Given the description of an element on the screen output the (x, y) to click on. 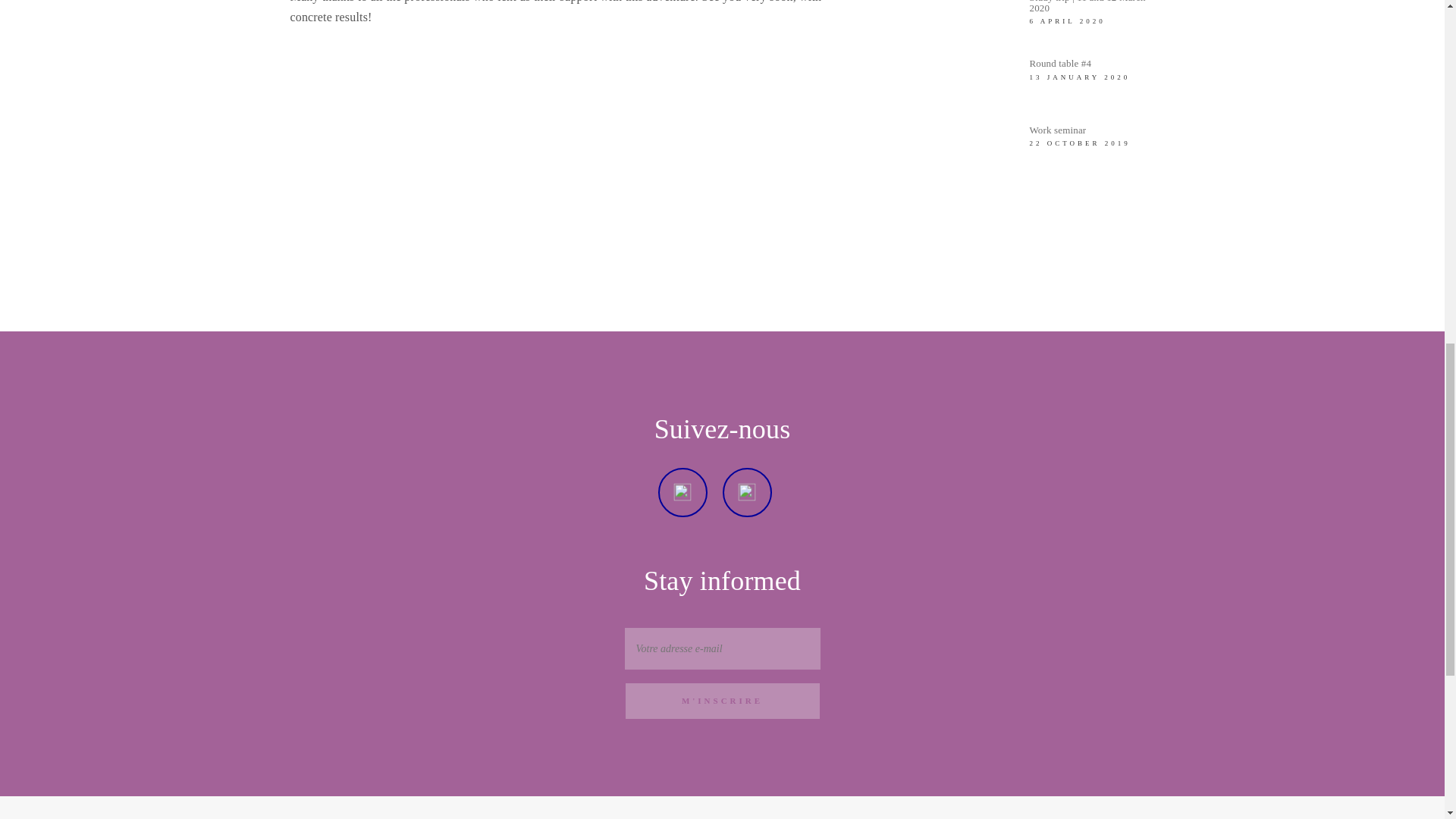
M'inscrire (722, 700)
Work seminar (1057, 129)
M'inscrire (722, 700)
